Given the description of an element on the screen output the (x, y) to click on. 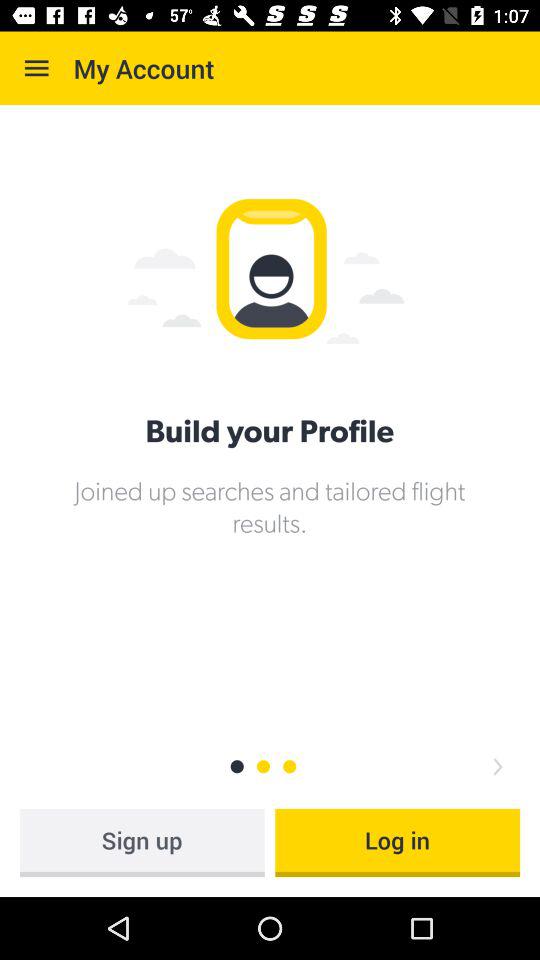
tap log in item (397, 842)
